Given the description of an element on the screen output the (x, y) to click on. 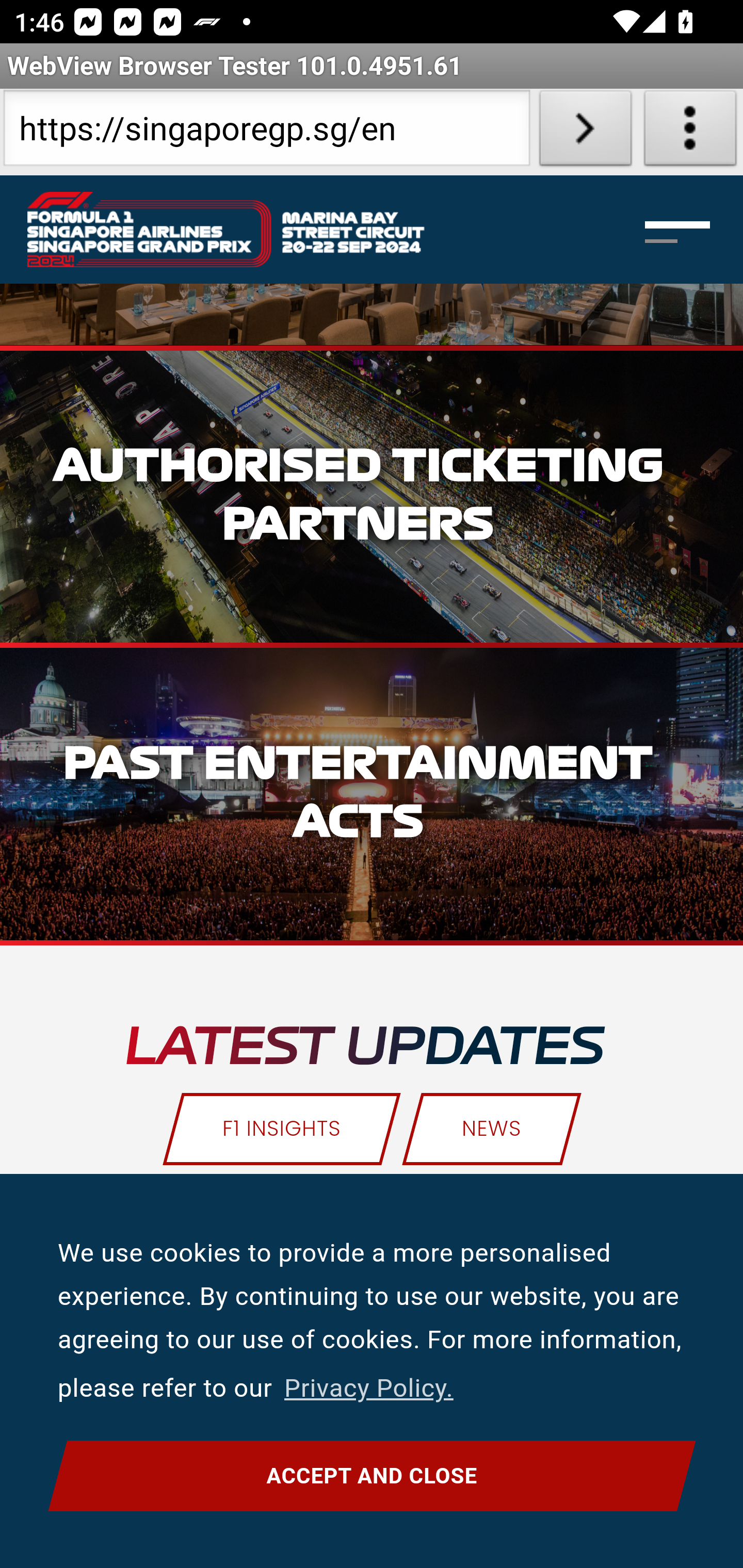
https://singaporegp.sg/en (266, 132)
Load URL (585, 132)
About WebView (690, 132)
Singapore Grand Prix Logo (247, 230)
F1 INSIGHTS (282, 1130)
NEWS (491, 1130)
learn more about cookies (368, 1389)
dismiss cookie message (371, 1476)
